Given the description of an element on the screen output the (x, y) to click on. 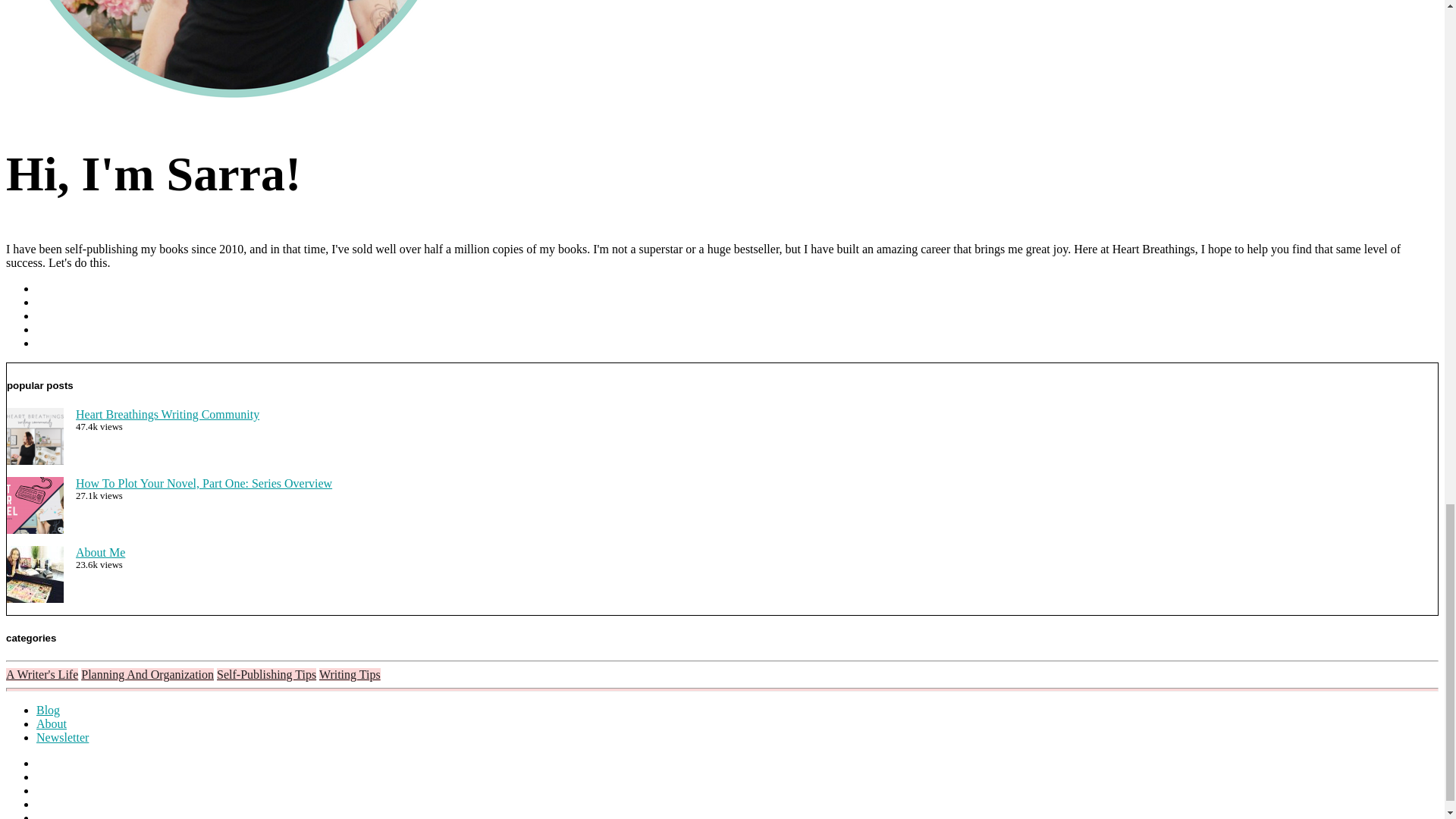
Planning And Organization (147, 674)
Self-Publishing Tips (265, 674)
Heart Breathings Writing Community (167, 413)
Blog (47, 709)
How To Plot Your Novel, Part One: Series Overview (203, 482)
About Me (100, 552)
Newsletter (62, 737)
A Writer's Life (41, 674)
About (51, 723)
Writing Tips (349, 674)
